Given the description of an element on the screen output the (x, y) to click on. 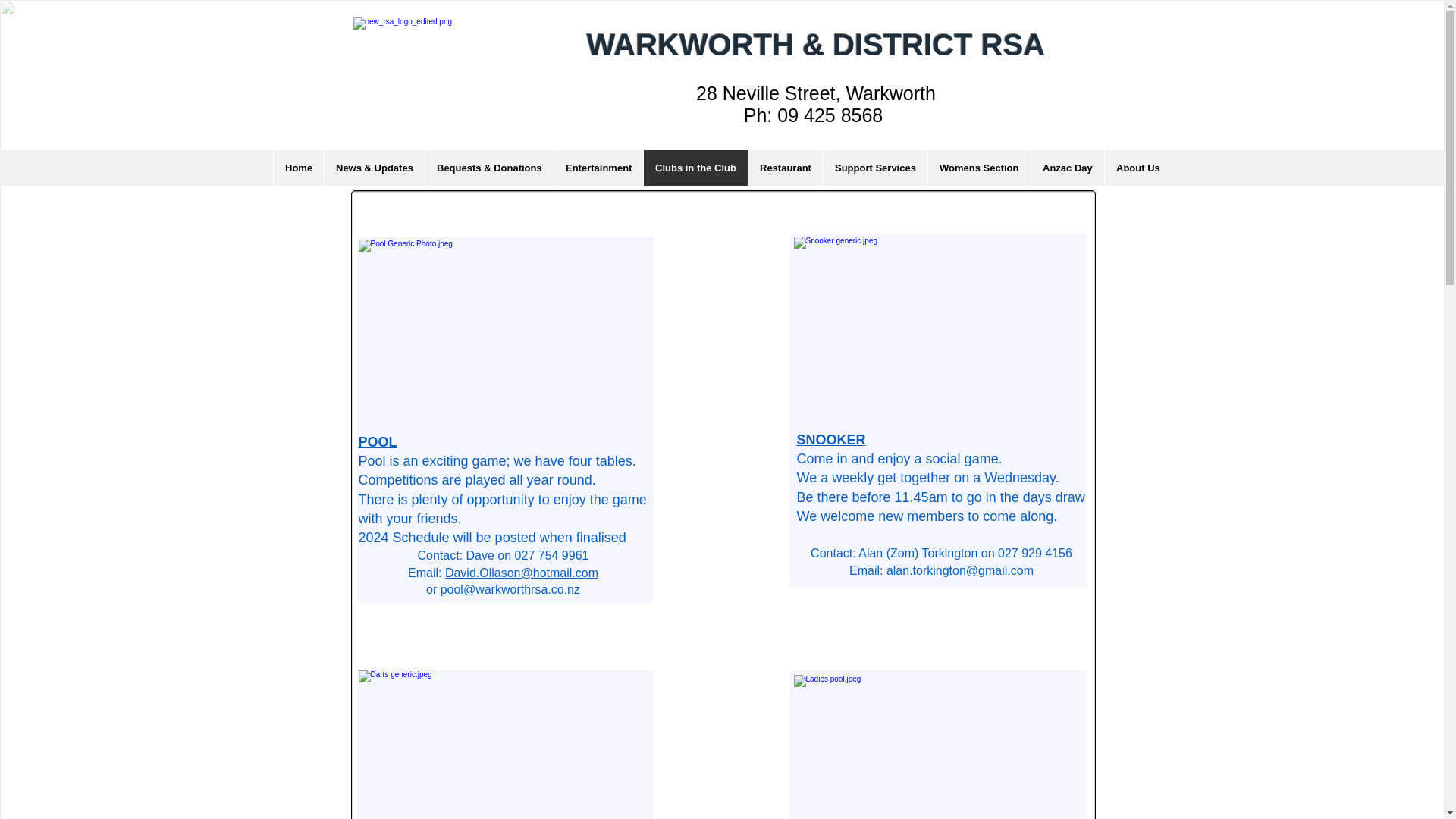
Womens Section (978, 167)
Home (298, 167)
Support Services (874, 167)
Entertainment (598, 167)
28 Neville Street, W (779, 93)
Anzac Day (1066, 167)
arkworth (899, 93)
Clubs in the Club (695, 167)
POOL (377, 441)
09 425 8568  (832, 115)
